Given the description of an element on the screen output the (x, y) to click on. 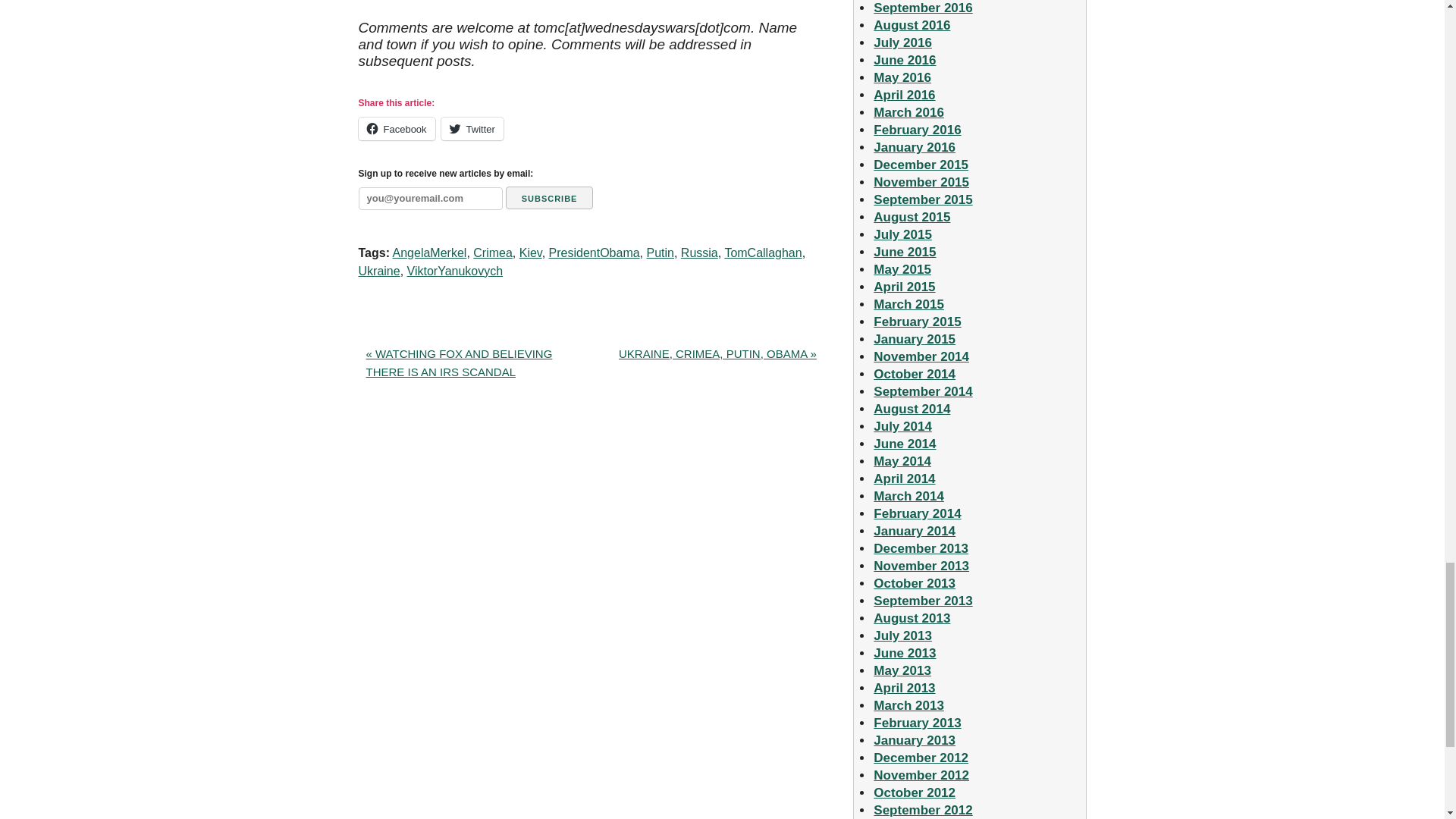
Subscribe (549, 197)
PresidentObama (594, 252)
Ukraine (378, 270)
Crimea (492, 252)
Russia (699, 252)
Click to share on Twitter (472, 128)
TomCallaghan (762, 252)
ViktorYanukovych (455, 270)
AngelaMerkel (430, 252)
Subscribe (549, 197)
